Given the description of an element on the screen output the (x, y) to click on. 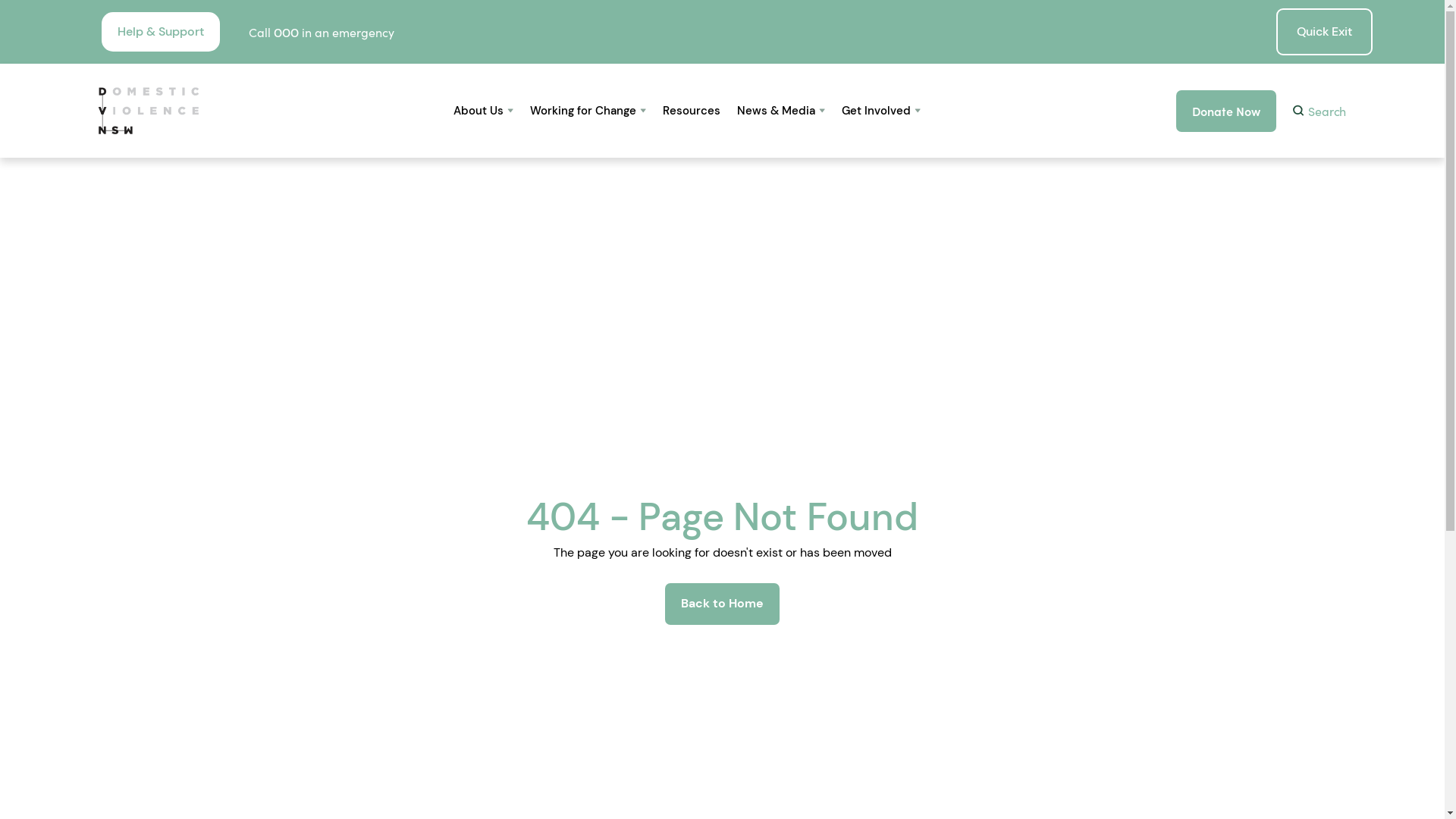
Help & Support Element type: text (160, 31)
Back to Home Element type: text (722, 603)
000 Element type: text (285, 32)
Donate Now Element type: text (1226, 110)
Search Element type: text (1319, 111)
Quick Exit Element type: text (1324, 31)
Resources Element type: text (691, 111)
